Given the description of an element on the screen output the (x, y) to click on. 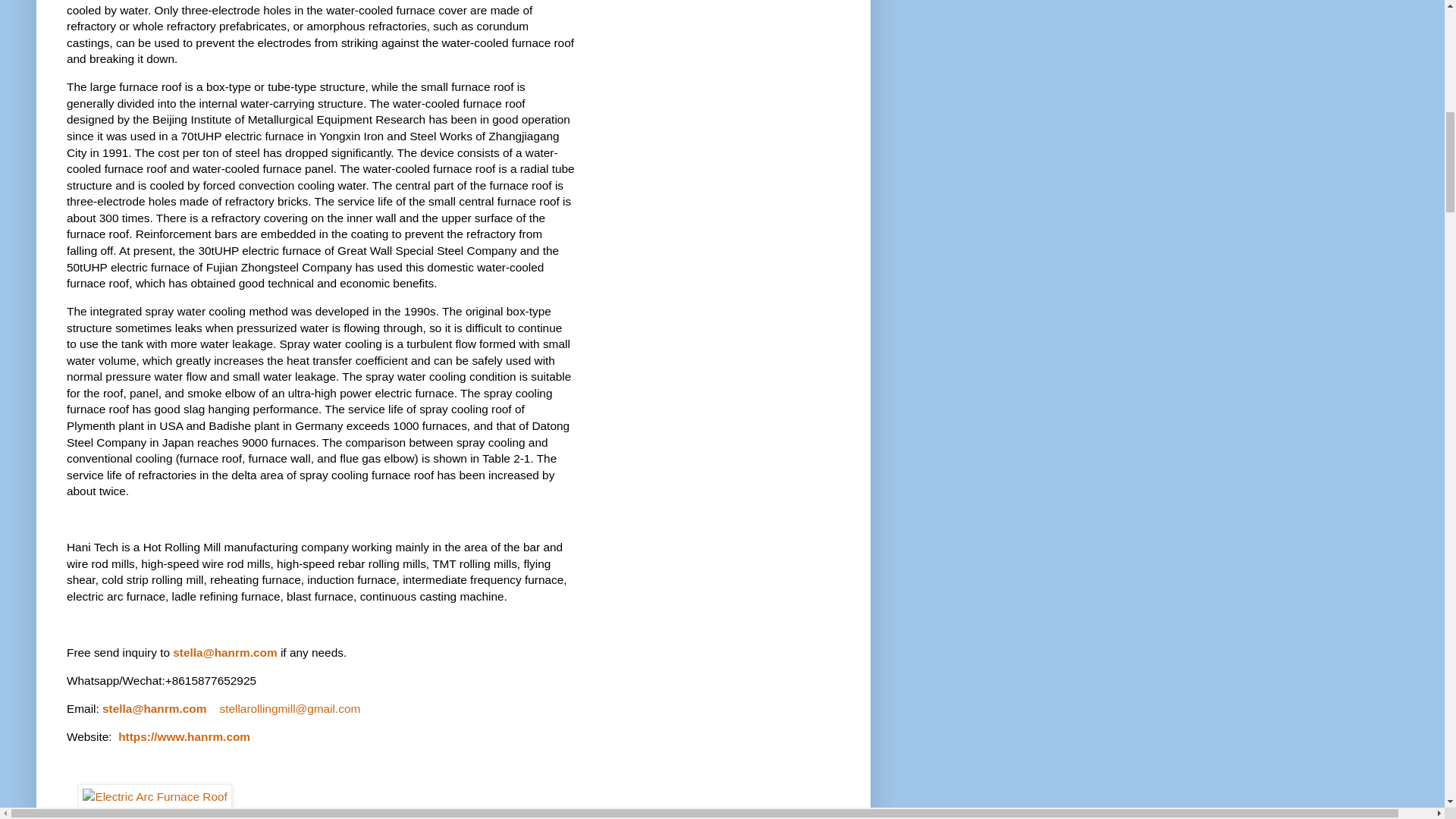
Electric Arc Furnace Roof (154, 796)
